Given the description of an element on the screen output the (x, y) to click on. 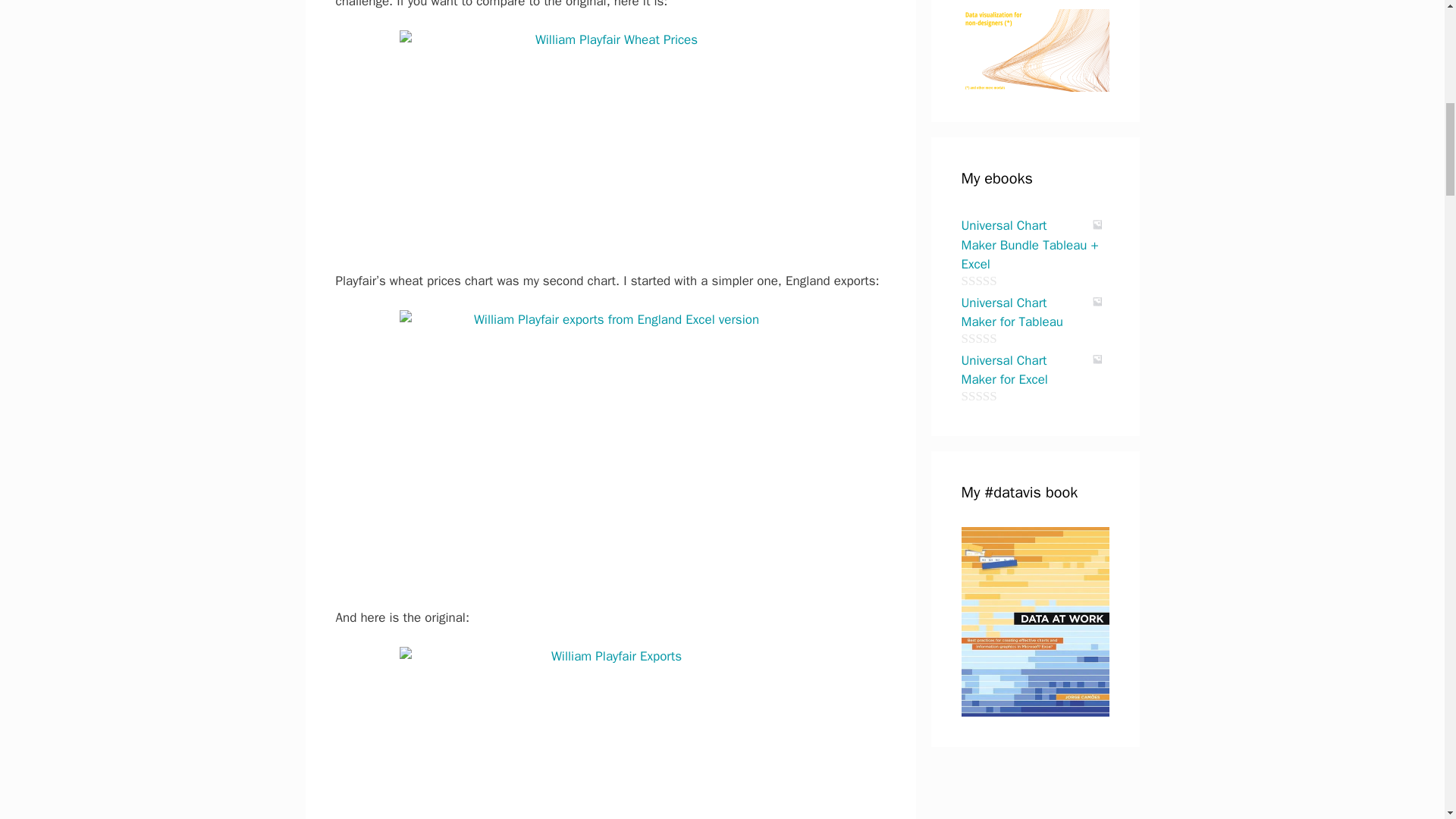
william-playfair-excel-exports-original (609, 733)
william-playfair-wheat-original (609, 141)
william-playfair-excel-exports (609, 449)
